Given the description of an element on the screen output the (x, y) to click on. 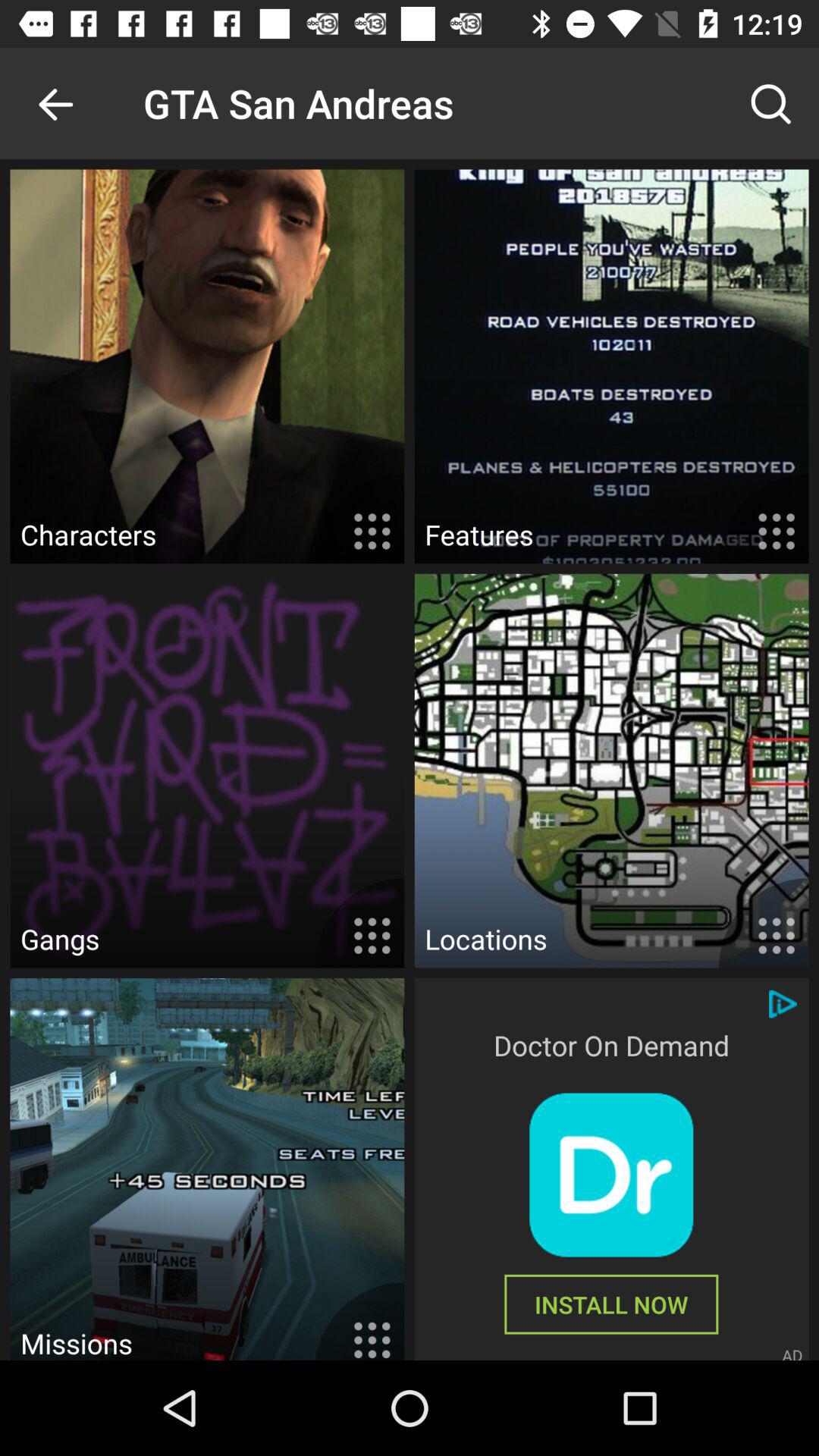
turn on the item above install now (611, 1174)
